Given the description of an element on the screen output the (x, y) to click on. 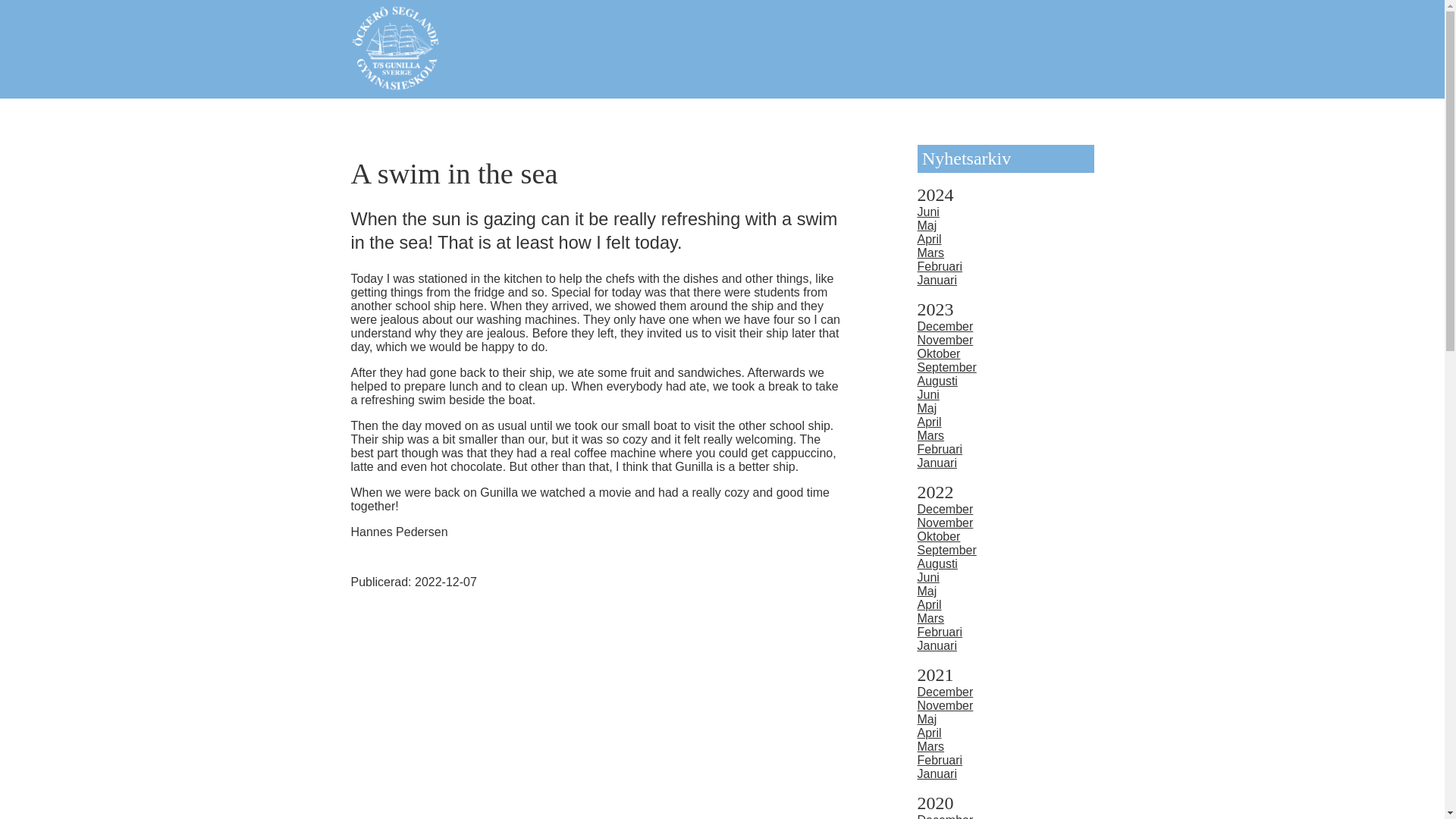
nov 2023 (945, 339)
dec 2022 (945, 508)
maj 2024 (927, 225)
mar 2023 (930, 435)
okt 2022 (938, 535)
feb 2023 (939, 449)
mar 2024 (930, 252)
feb 2024 (939, 266)
dec 2023 (945, 326)
nov 2022 (945, 522)
jan 2023 (936, 462)
jun 2024 (928, 211)
okt 2023 (938, 353)
jan 2024 (936, 279)
sep 2023 (946, 367)
